Given the description of an element on the screen output the (x, y) to click on. 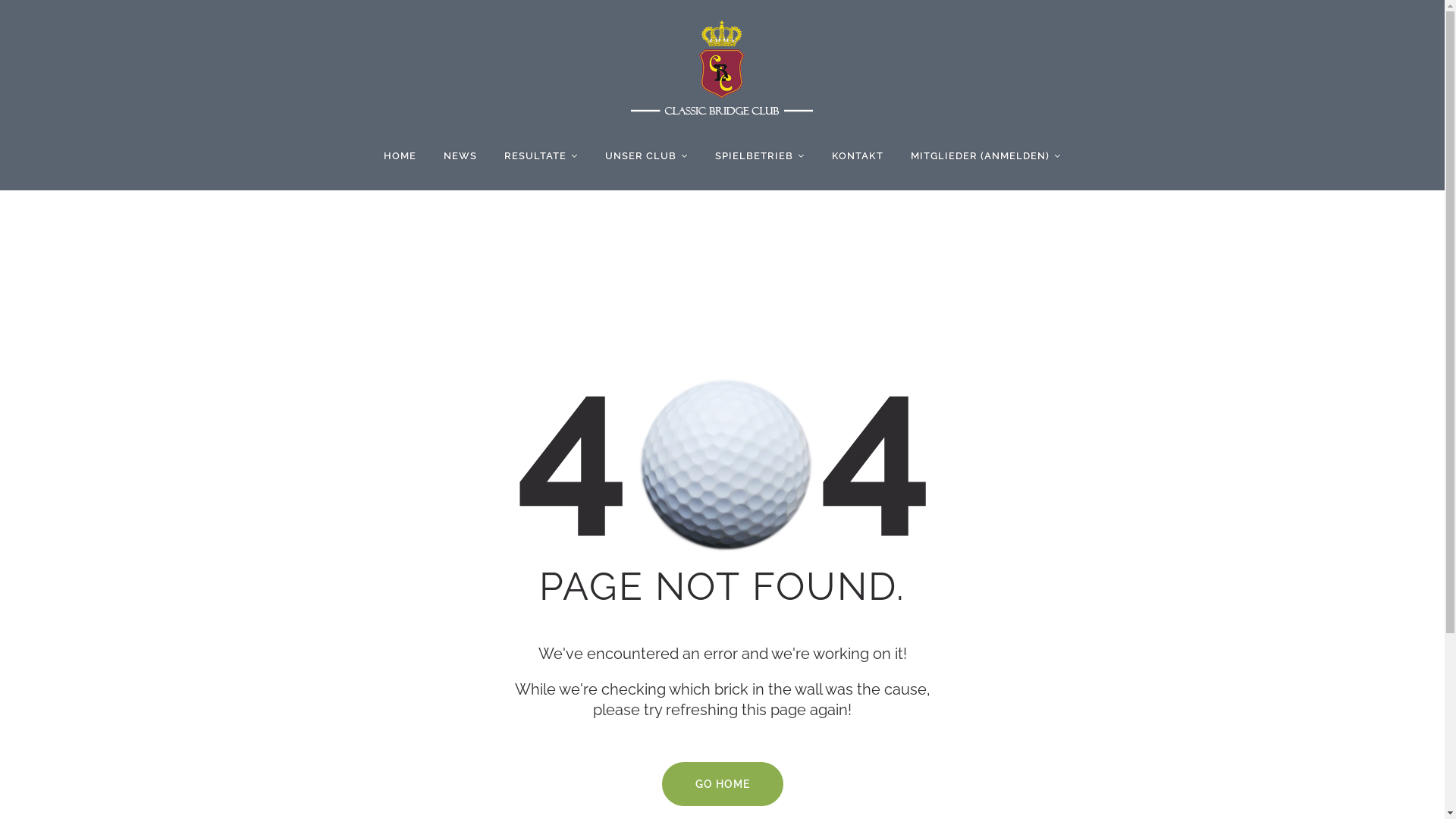
RESULTATE Element type: text (535, 155)
KONTAKT Element type: text (857, 155)
GO HOME Element type: text (721, 784)
NEWS Element type: text (459, 155)
UNSER CLUB Element type: text (640, 155)
HOME Element type: text (399, 155)
MITGLIEDER (ANMELDEN) Element type: text (979, 155)
SPIELBETRIEB Element type: text (754, 155)
